Given the description of an element on the screen output the (x, y) to click on. 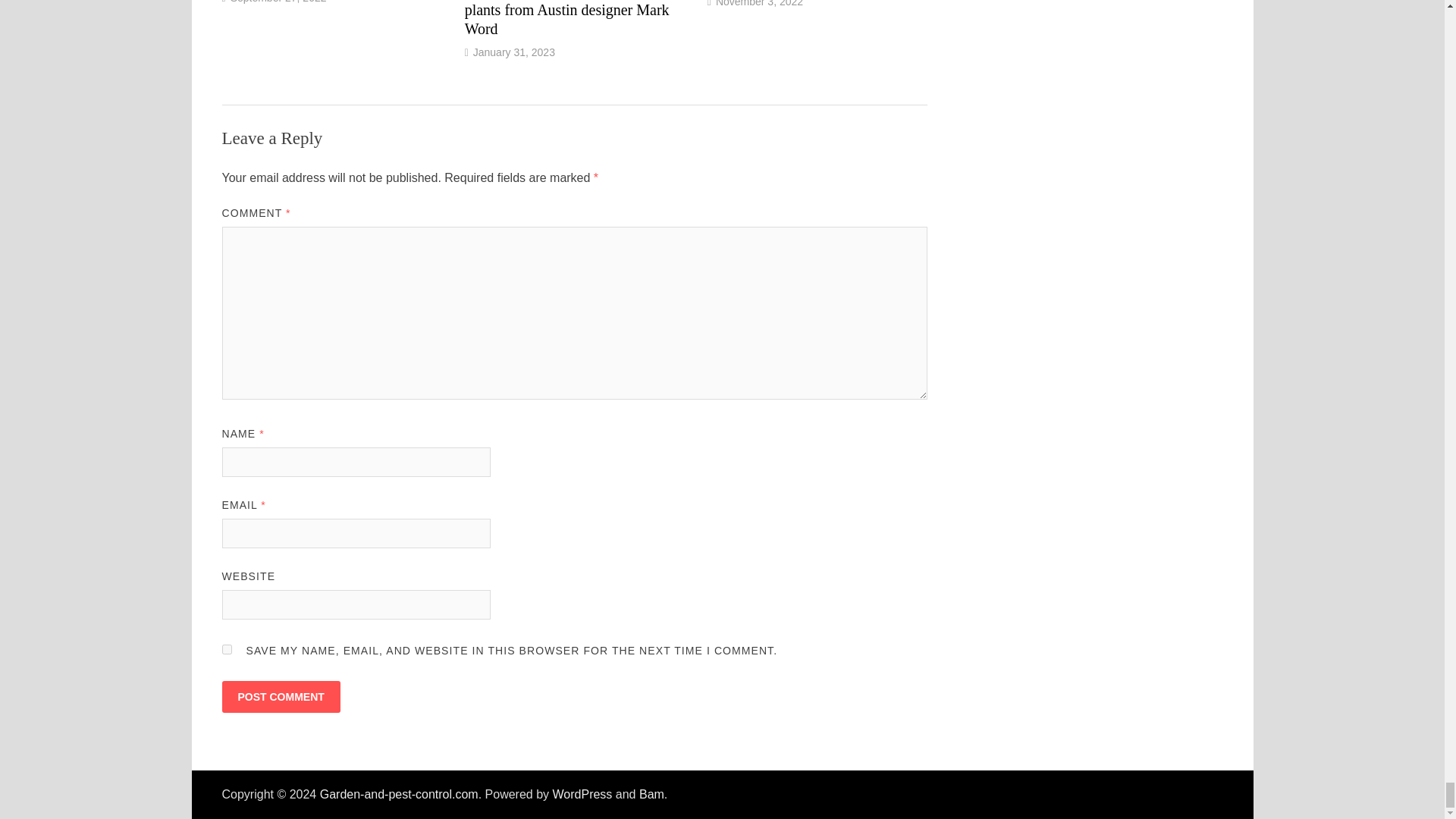
Post Comment (280, 696)
Post Comment (280, 696)
September 27, 2022 (278, 2)
January 31, 2023 (513, 51)
Garden-and-pest-control.com (399, 793)
November 3, 2022 (759, 3)
yes (226, 649)
